Given the description of an element on the screen output the (x, y) to click on. 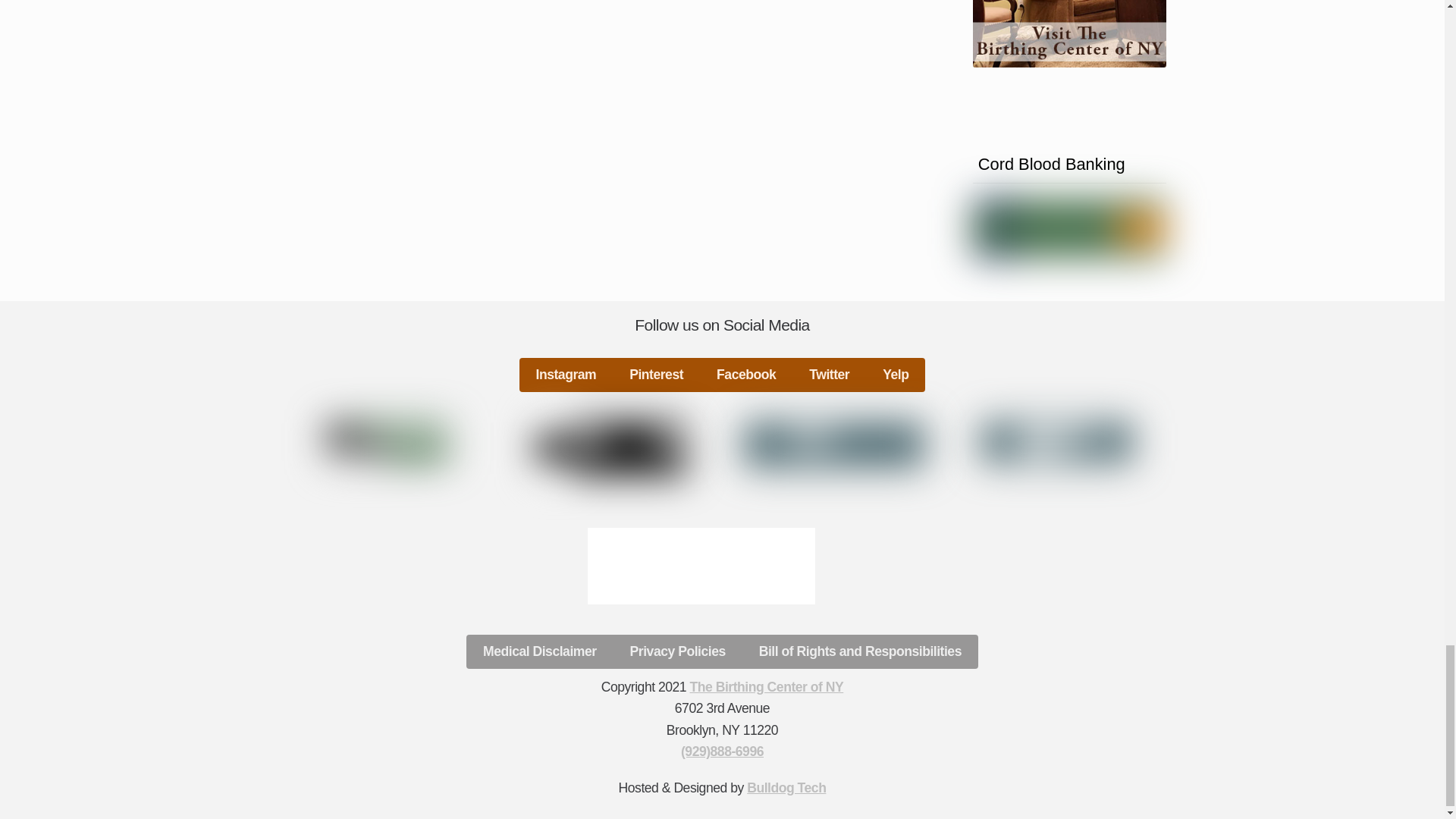
Web Site Medical Information Disclaimer (610, 448)
Web Site Medical Information Disclaimer (1056, 442)
Instagram Pinterest Facebook Twitter Yelp (722, 374)
Web Site Medical Information Disclaimer (387, 442)
Web Site Medical Information Disclaimer (834, 444)
